Given the description of an element on the screen output the (x, y) to click on. 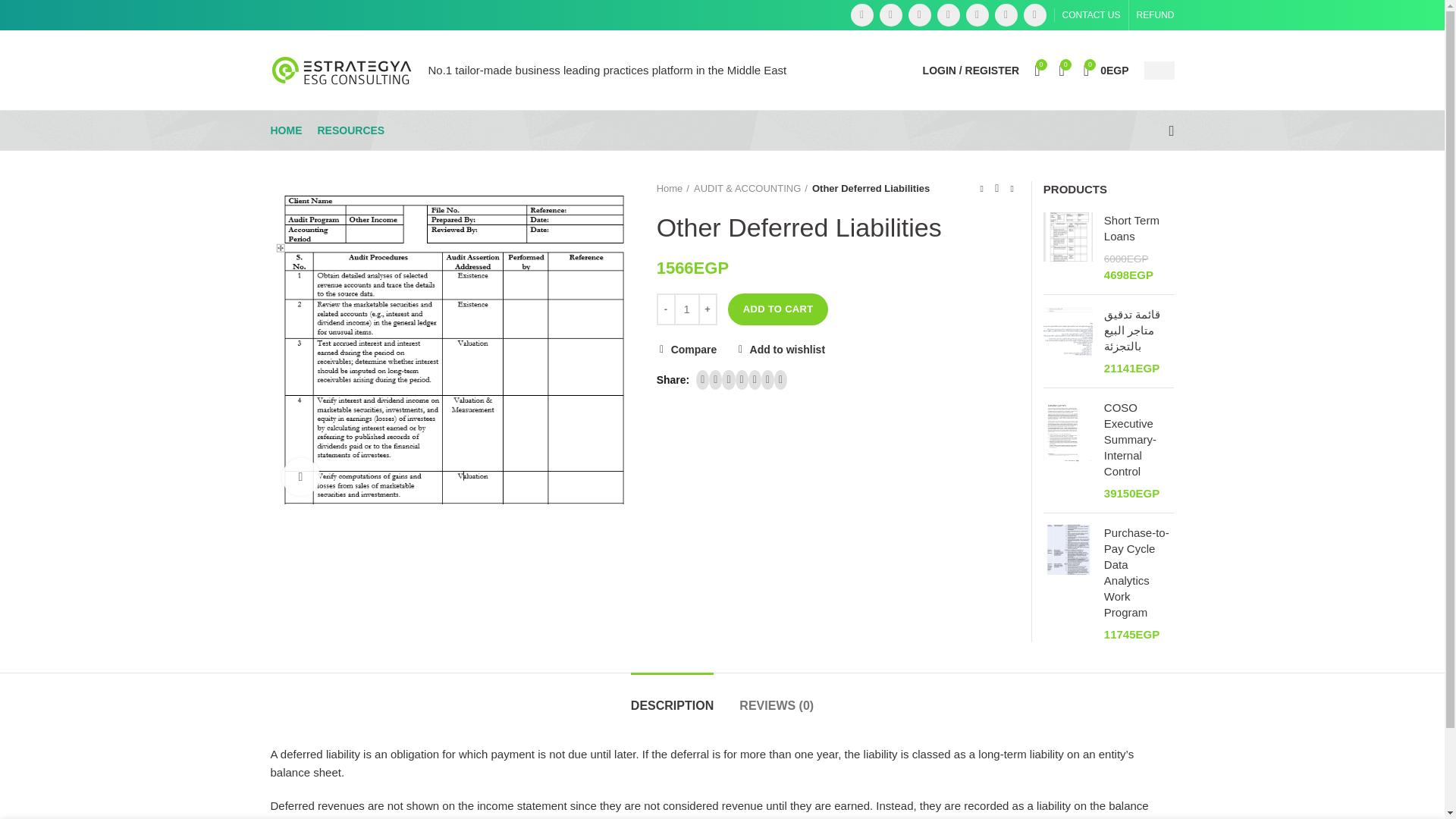
Previous product (982, 188)
Shopping cart (1106, 69)
CONTACT US (1091, 15)
RESOURCES (349, 130)
Next product (1012, 188)
Capture (1106, 69)
Short Term Loans (450, 342)
HOME (1138, 228)
Home (285, 130)
